Given the description of an element on the screen output the (x, y) to click on. 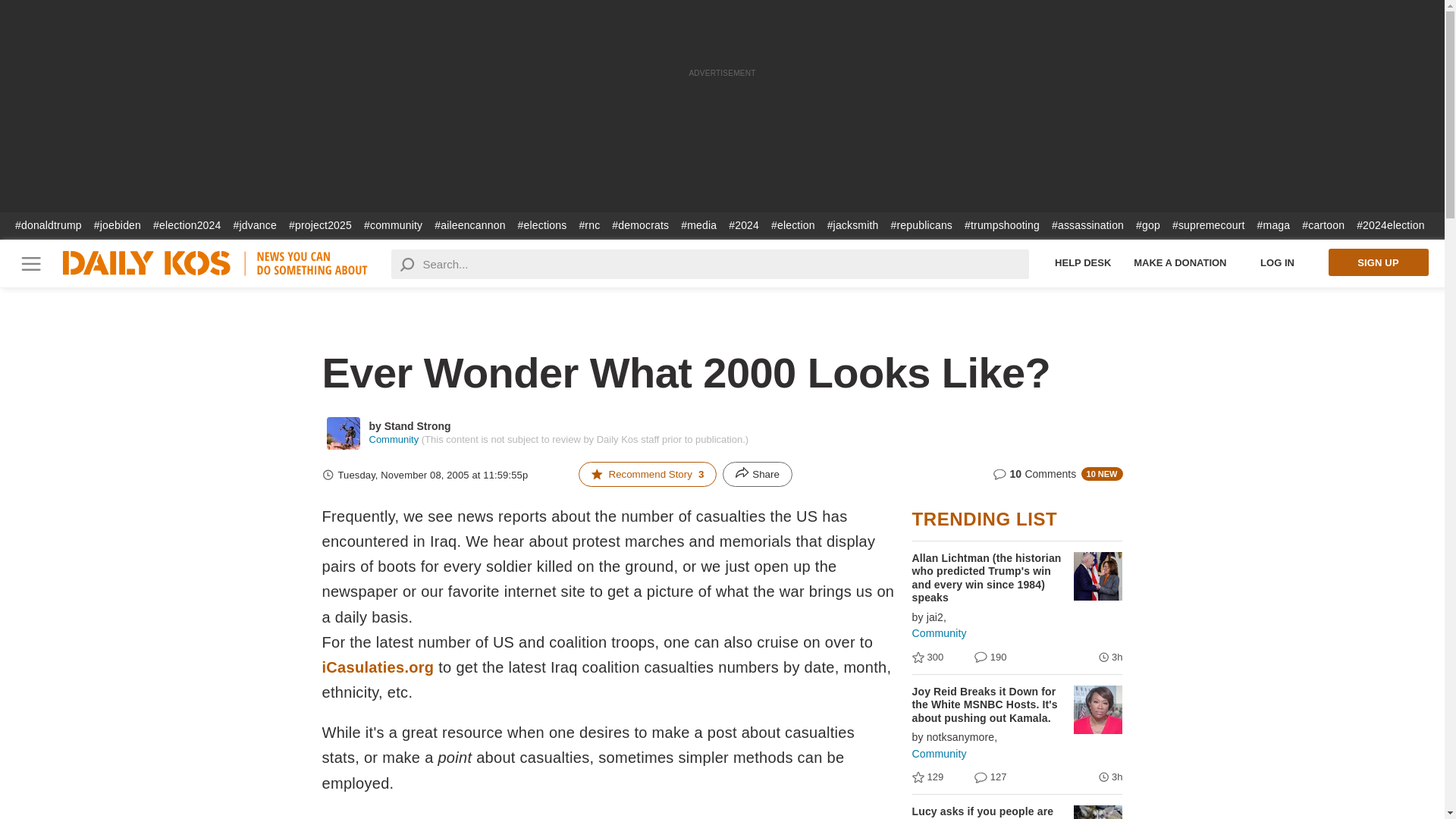
Make a Donation (1179, 262)
MAKE A DONATION (1179, 262)
Help Desk (1082, 262)
